Given the description of an element on the screen output the (x, y) to click on. 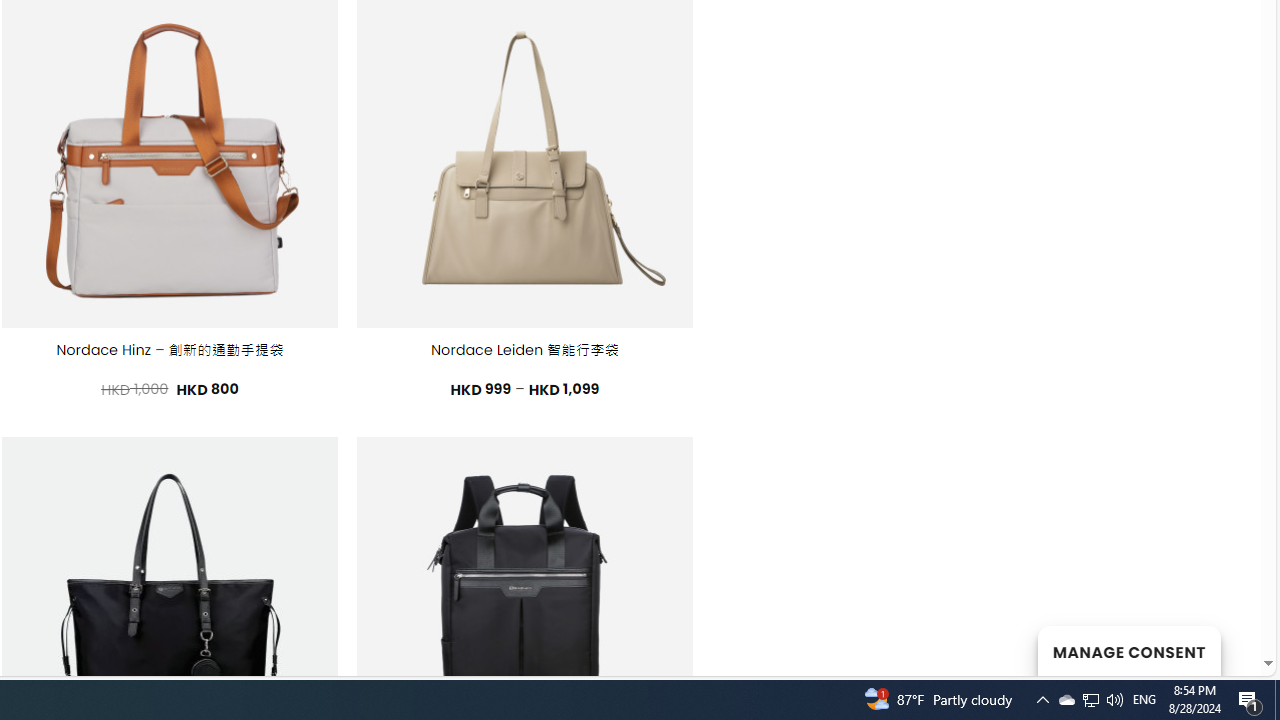
MANAGE CONSENT (1128, 650)
